Given the description of an element on the screen output the (x, y) to click on. 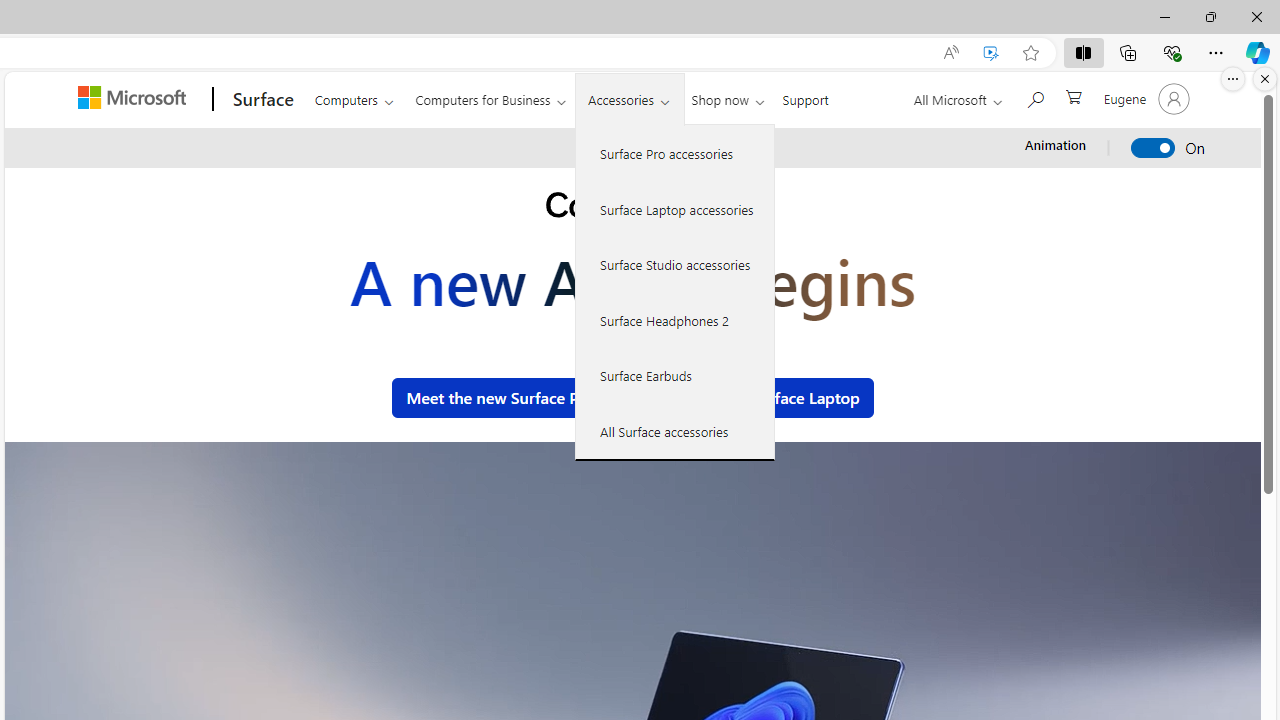
More options. (1233, 79)
Surface Headphones 2 (675, 319)
All Surface accessories (675, 431)
Meet the new Surface Pro (499, 397)
0 items in shopping cart (1072, 95)
Surface Studio accessories (675, 264)
Enhance video (991, 53)
Meet the new Surface Laptop (753, 397)
Animation On (1153, 147)
